Given the description of an element on the screen output the (x, y) to click on. 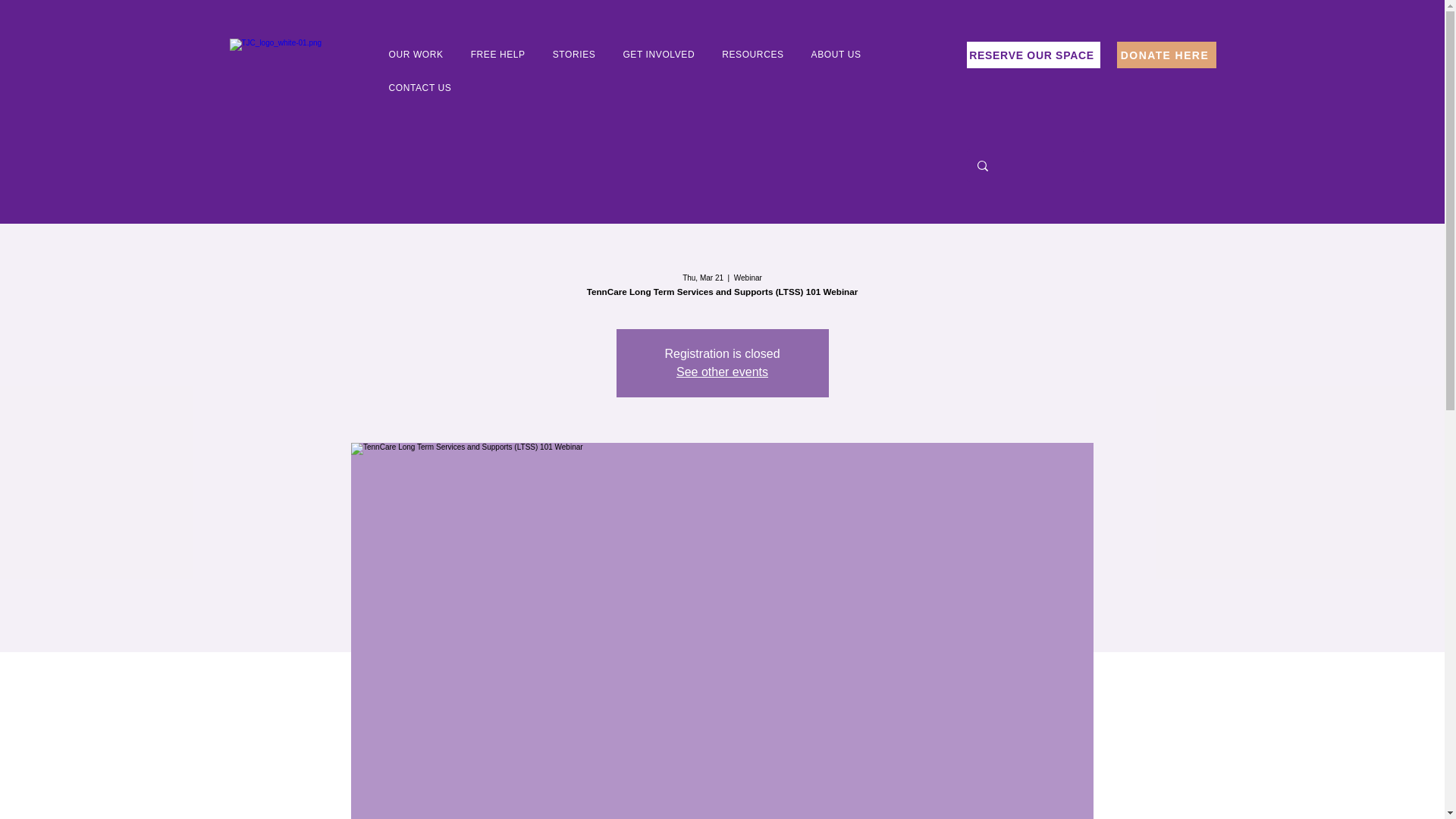
RESOURCES (752, 53)
FREE HELP (498, 53)
OUR WORK (415, 53)
GET INVOLVED (658, 53)
ABOUT US (836, 53)
CONTACT US (420, 87)
RESERVE OUR SPACE (1032, 54)
STORIES (574, 53)
